Given the description of an element on the screen output the (x, y) to click on. 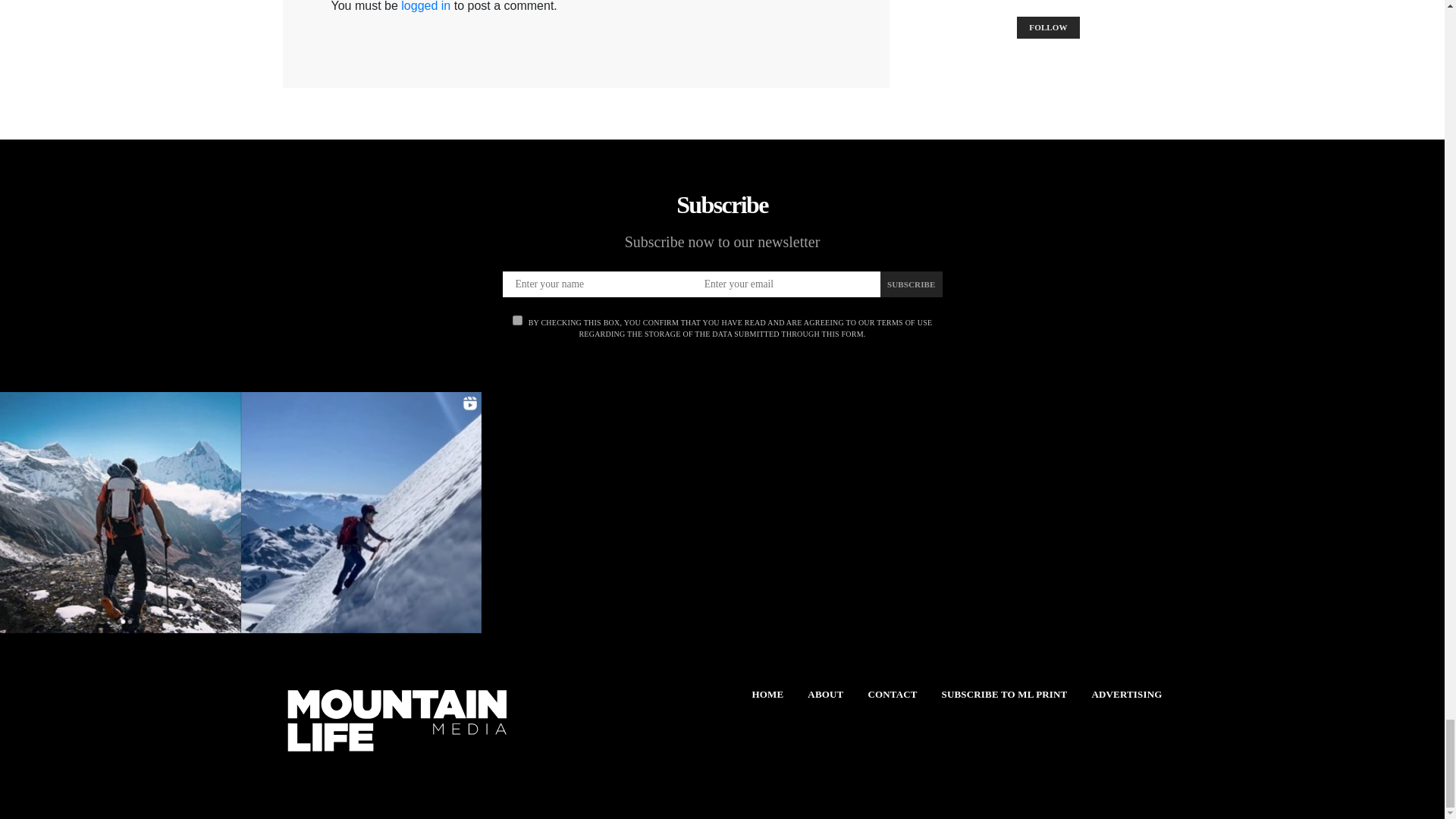
on (517, 320)
